Given the description of an element on the screen output the (x, y) to click on. 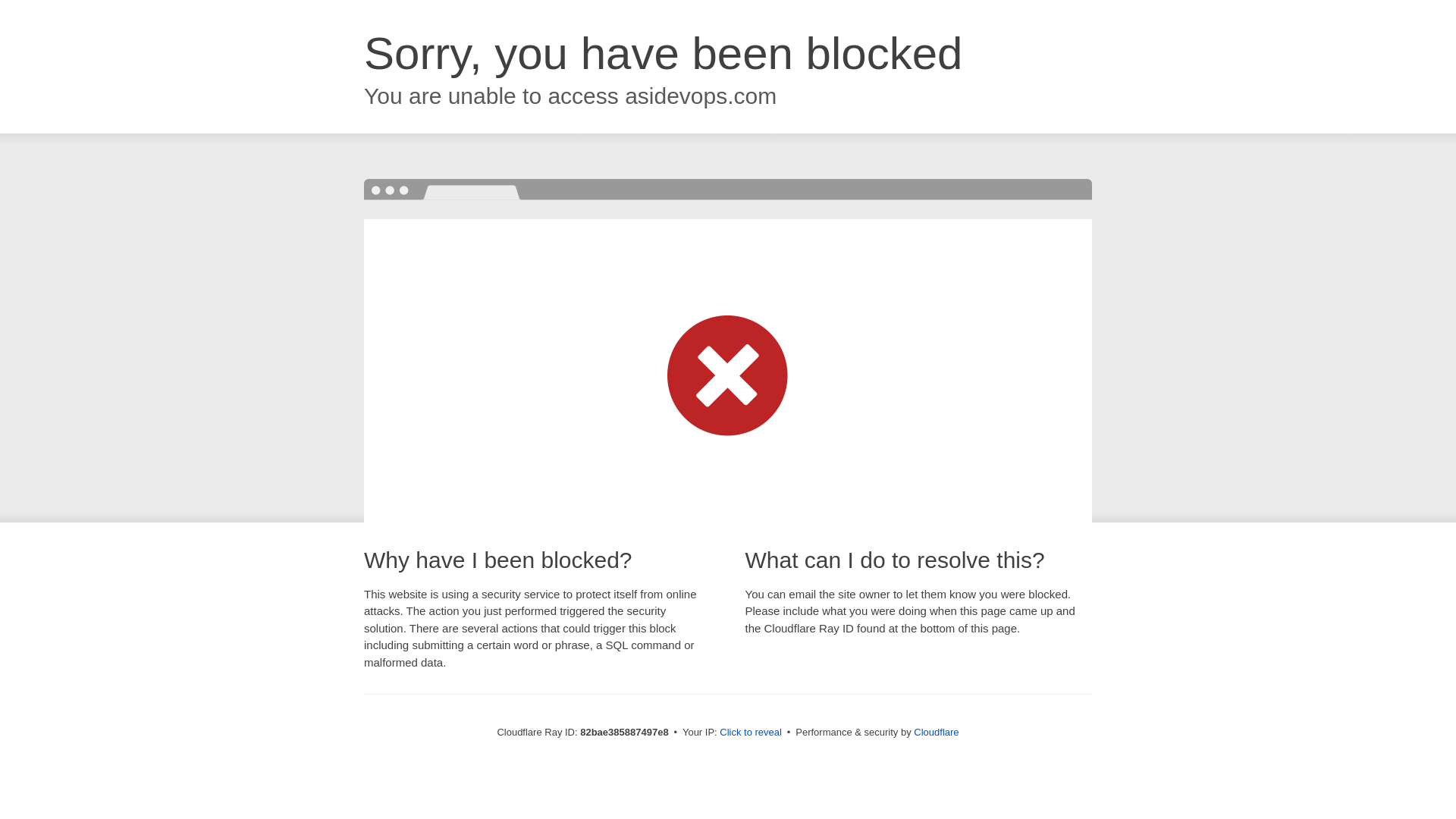
Click to reveal Element type: text (750, 732)
Cloudflare Element type: text (935, 731)
